Given the description of an element on the screen output the (x, y) to click on. 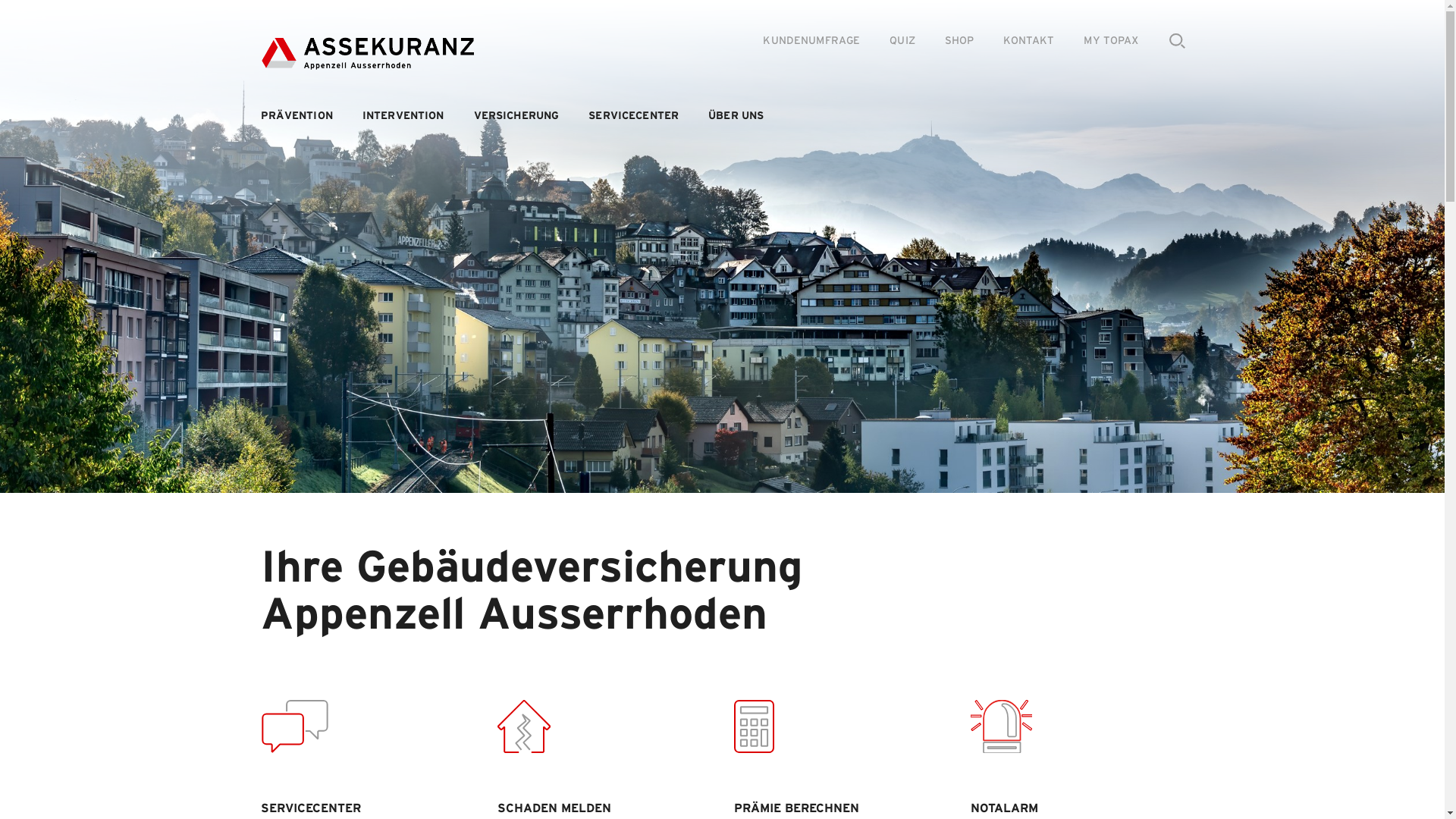
KUNDENUMFRAGE Element type: text (810, 40)
Search Element type: text (1184, 41)
SHOP Element type: text (959, 40)
QUIZ Element type: text (902, 40)
INTERVENTION Element type: text (403, 115)
KONTAKT Element type: text (1028, 40)
SERVICECENTER Element type: text (633, 115)
VERSICHERUNG Element type: text (516, 115)
MY TOPAX Element type: text (1110, 40)
